Given the description of an element on the screen output the (x, y) to click on. 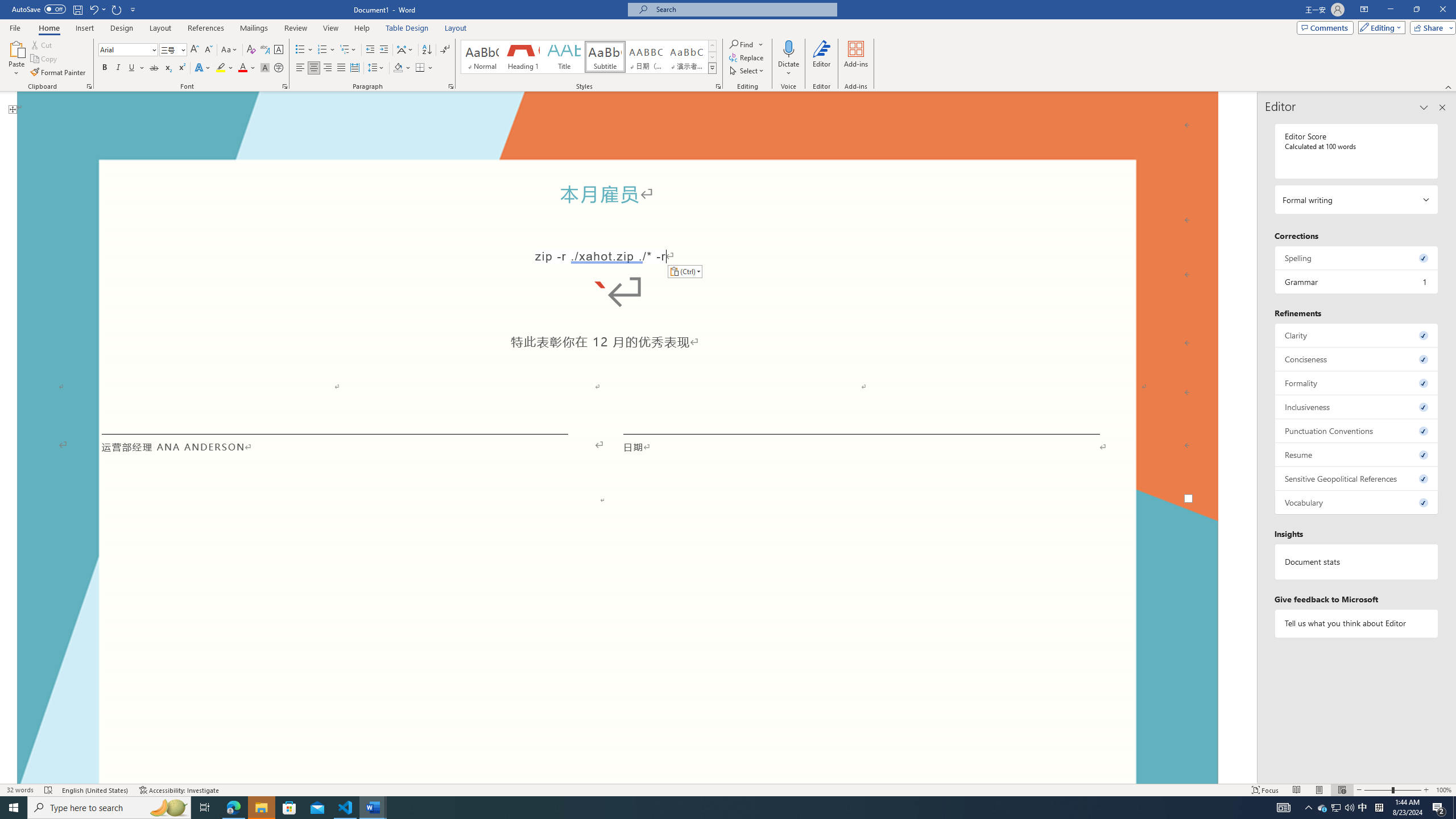
Bold (104, 67)
Microsoft search (742, 9)
Zoom 100% (1443, 790)
Language English (United States) (95, 790)
Styles (711, 67)
Enclose Characters... (278, 67)
